Given the description of an element on the screen output the (x, y) to click on. 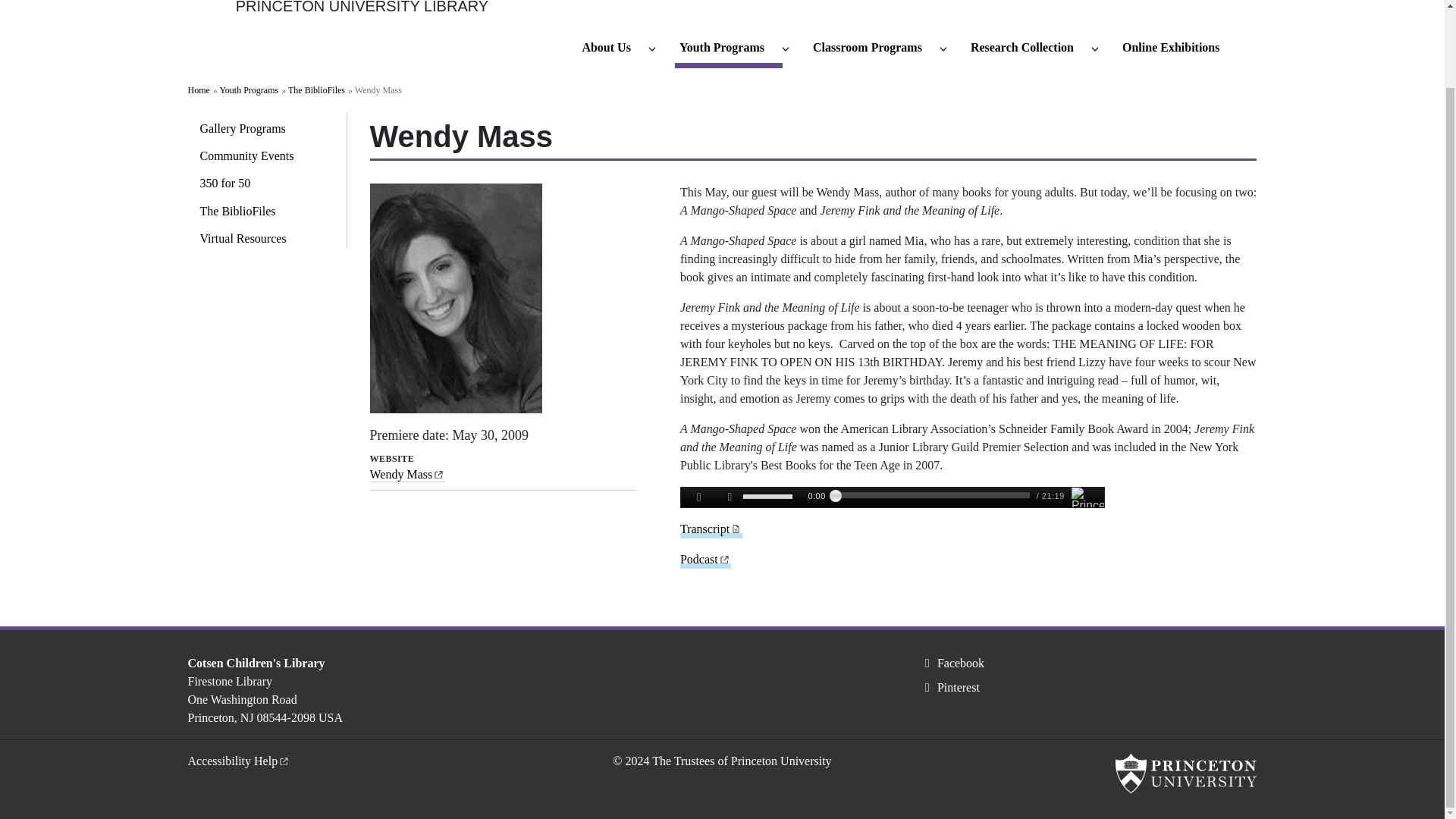
Link downloads document (735, 527)
Link is external (283, 759)
Classroom Programs (874, 48)
Link is external (437, 472)
Online Exhibitions (1178, 48)
Facebook (952, 662)
Princeton University (1185, 773)
Kaltura Player (892, 496)
Home (211, 14)
Pinterest (949, 686)
Research Collection (1029, 48)
About Us (611, 48)
Link is external (724, 557)
